Given the description of an element on the screen output the (x, y) to click on. 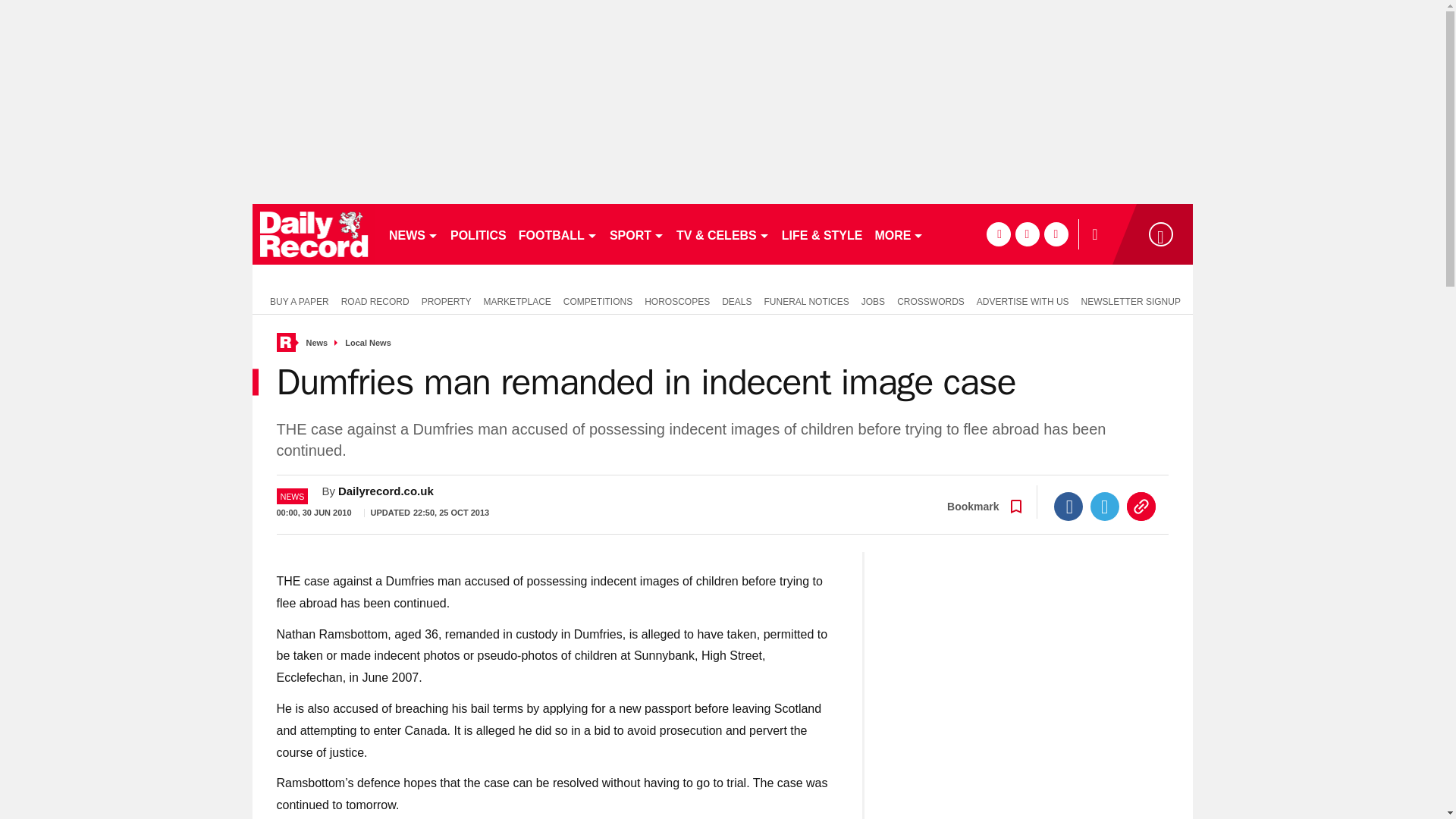
dailyrecord (313, 233)
SPORT (636, 233)
twitter (1026, 233)
NEWS (413, 233)
Facebook (1068, 506)
POLITICS (478, 233)
Twitter (1104, 506)
instagram (1055, 233)
facebook (997, 233)
FOOTBALL (558, 233)
